Given the description of an element on the screen output the (x, y) to click on. 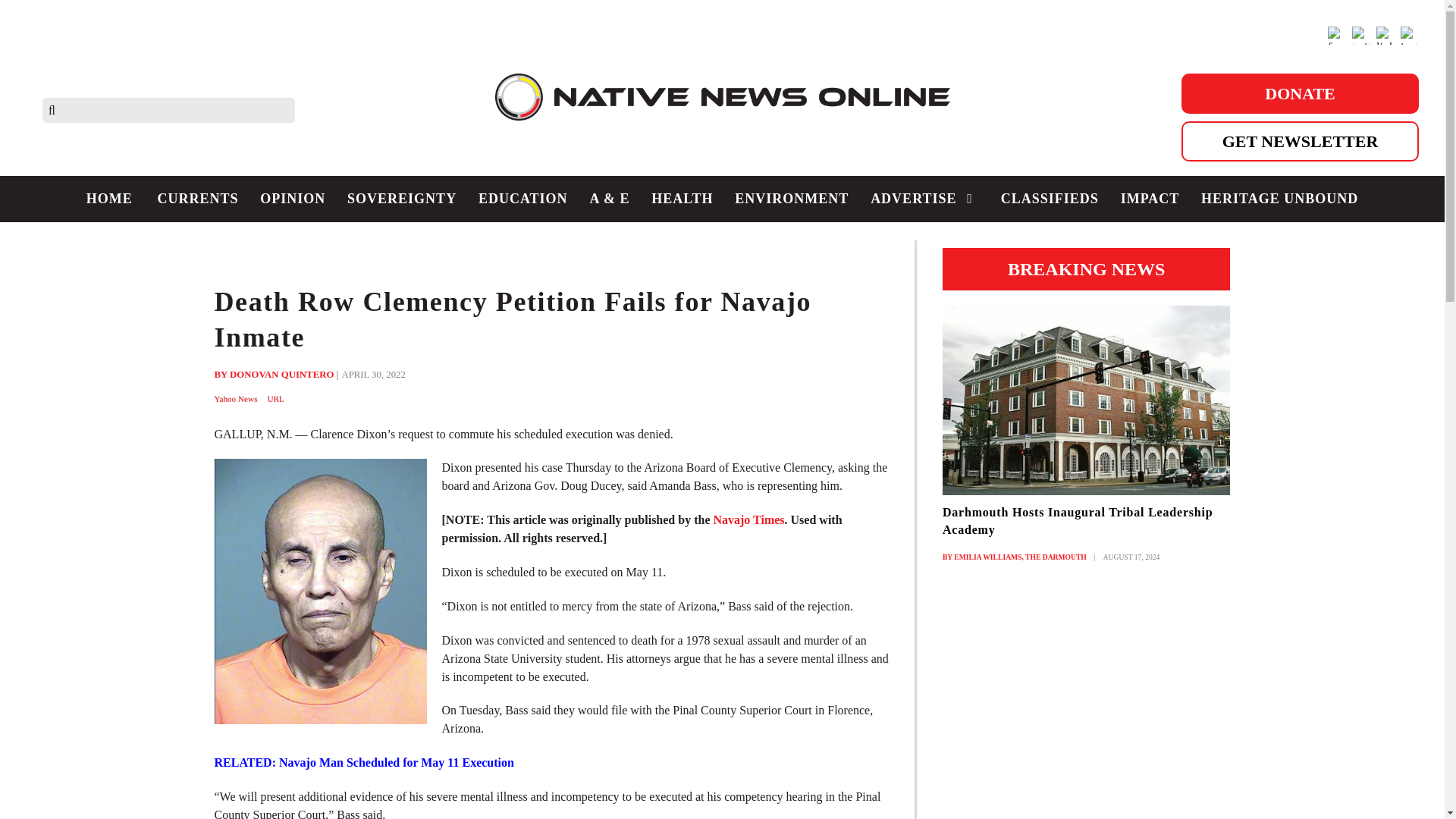
EDUCATION (522, 198)
URL (276, 398)
CLASSIFIEDS (1049, 198)
ENVIRONMENT (792, 198)
CURRENTS (197, 198)
Navajo Times (748, 519)
Native News Online (722, 109)
HOME (109, 198)
DONATE (1299, 93)
SOVEREIGNTY (401, 198)
